Given the description of an element on the screen output the (x, y) to click on. 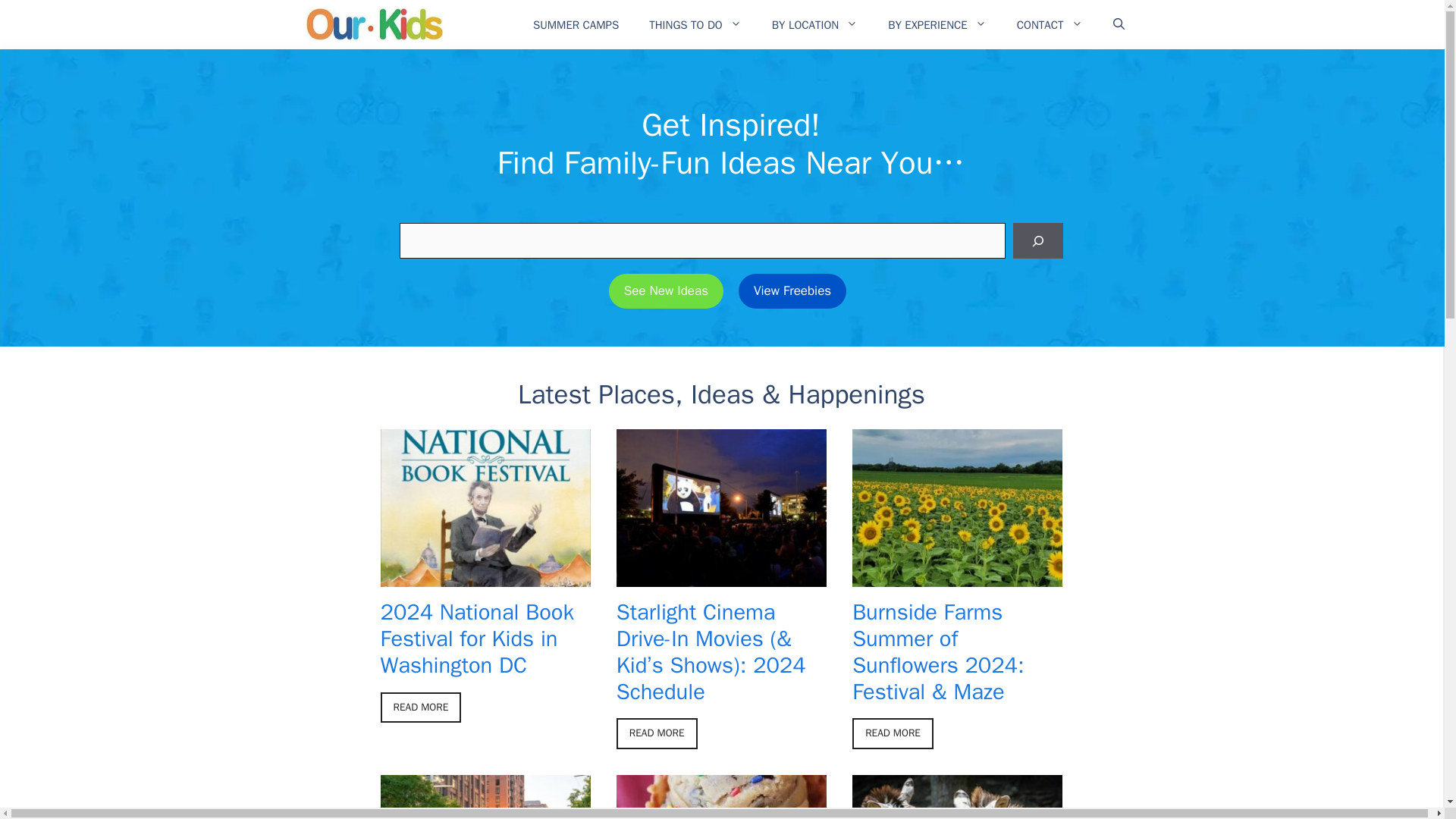
READ MORE (656, 733)
THINGS TO DO (695, 23)
SUMMER CAMPS (575, 23)
READ MORE (420, 707)
View Freebies (791, 290)
BY LOCATION (814, 23)
2024 National Book Festival for Kids in Washington DC (485, 577)
2024 National Book Festival for Kids in Washington DC (476, 638)
2024 National Book Festival for Kids in Washington DC (420, 707)
Our Kids (373, 24)
BY EXPERIENCE (936, 23)
See New Ideas (665, 290)
CONTACT (1049, 23)
